Given the description of an element on the screen output the (x, y) to click on. 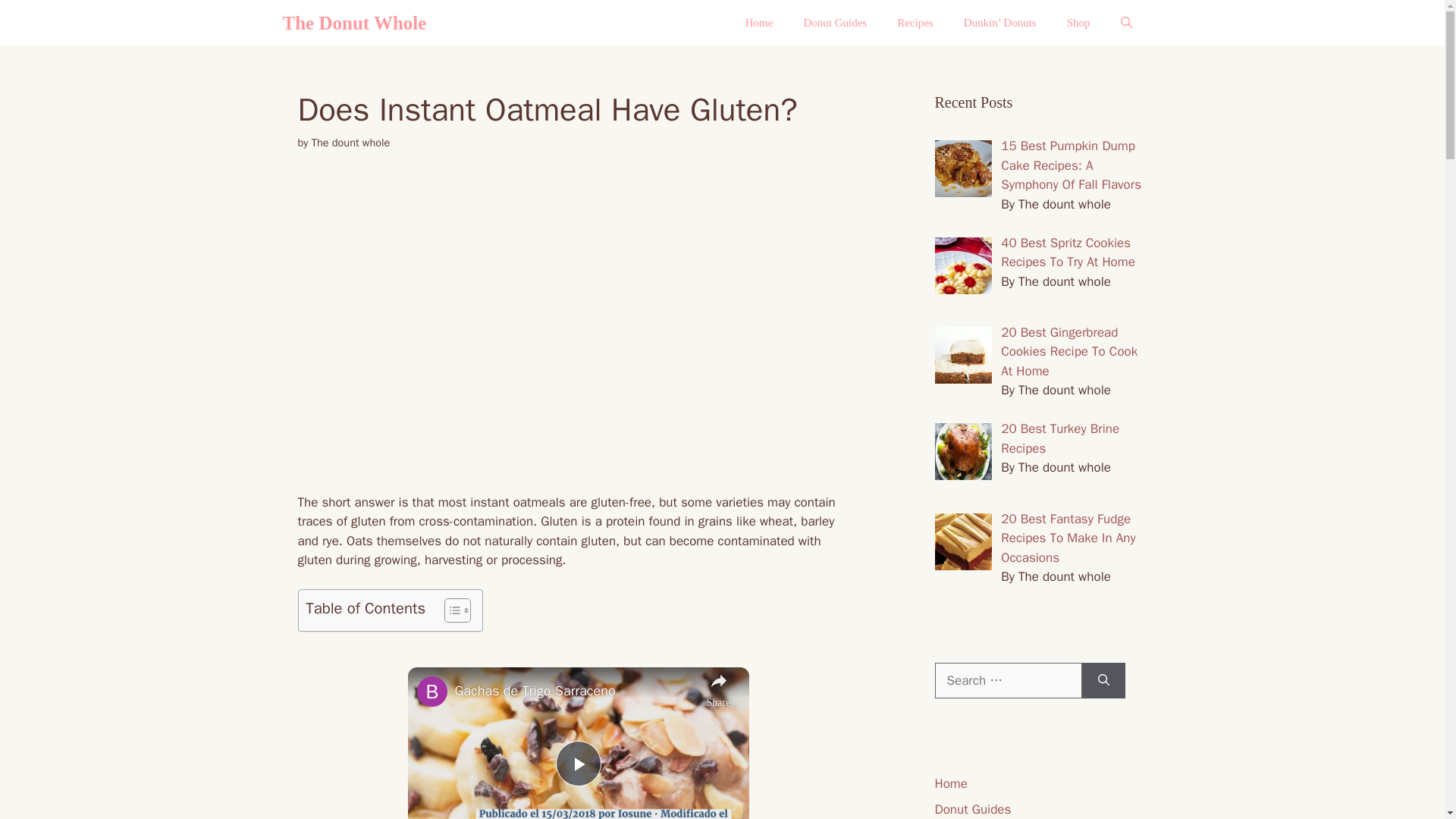
Home (759, 22)
The Donut Whole (354, 22)
The dount whole (350, 142)
Play Video (576, 763)
Donut Guides (834, 22)
Recipes (914, 22)
Play Video (576, 763)
Shop (1078, 22)
View all posts by The dount whole (350, 142)
